Given the description of an element on the screen output the (x, y) to click on. 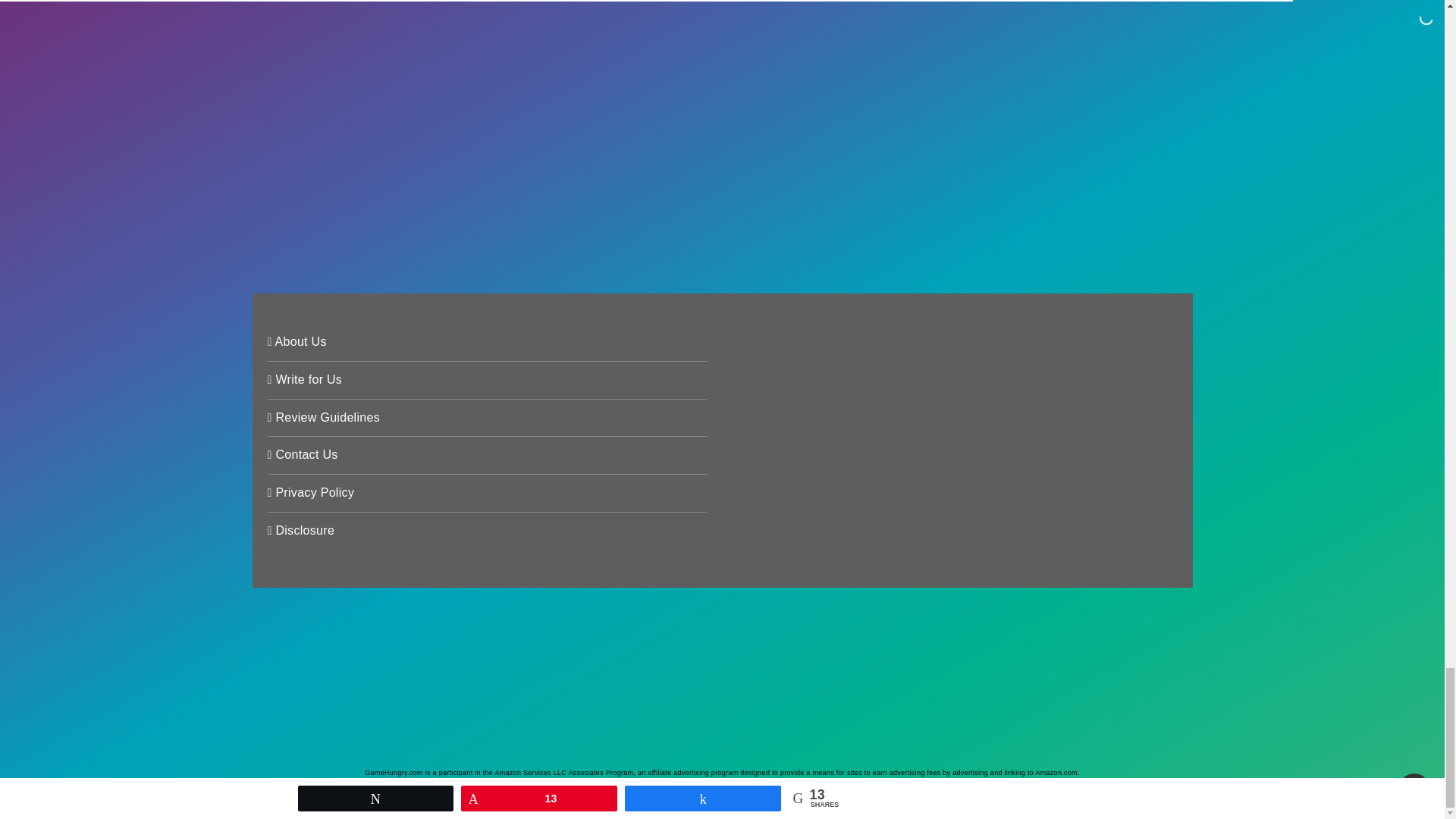
Disclosure (300, 532)
Post Comment (371, 196)
About Us (296, 343)
Contact Us (301, 456)
Review Guidelines (323, 419)
Privacy Policy (309, 494)
Write for Us (304, 381)
